Given the description of an element on the screen output the (x, y) to click on. 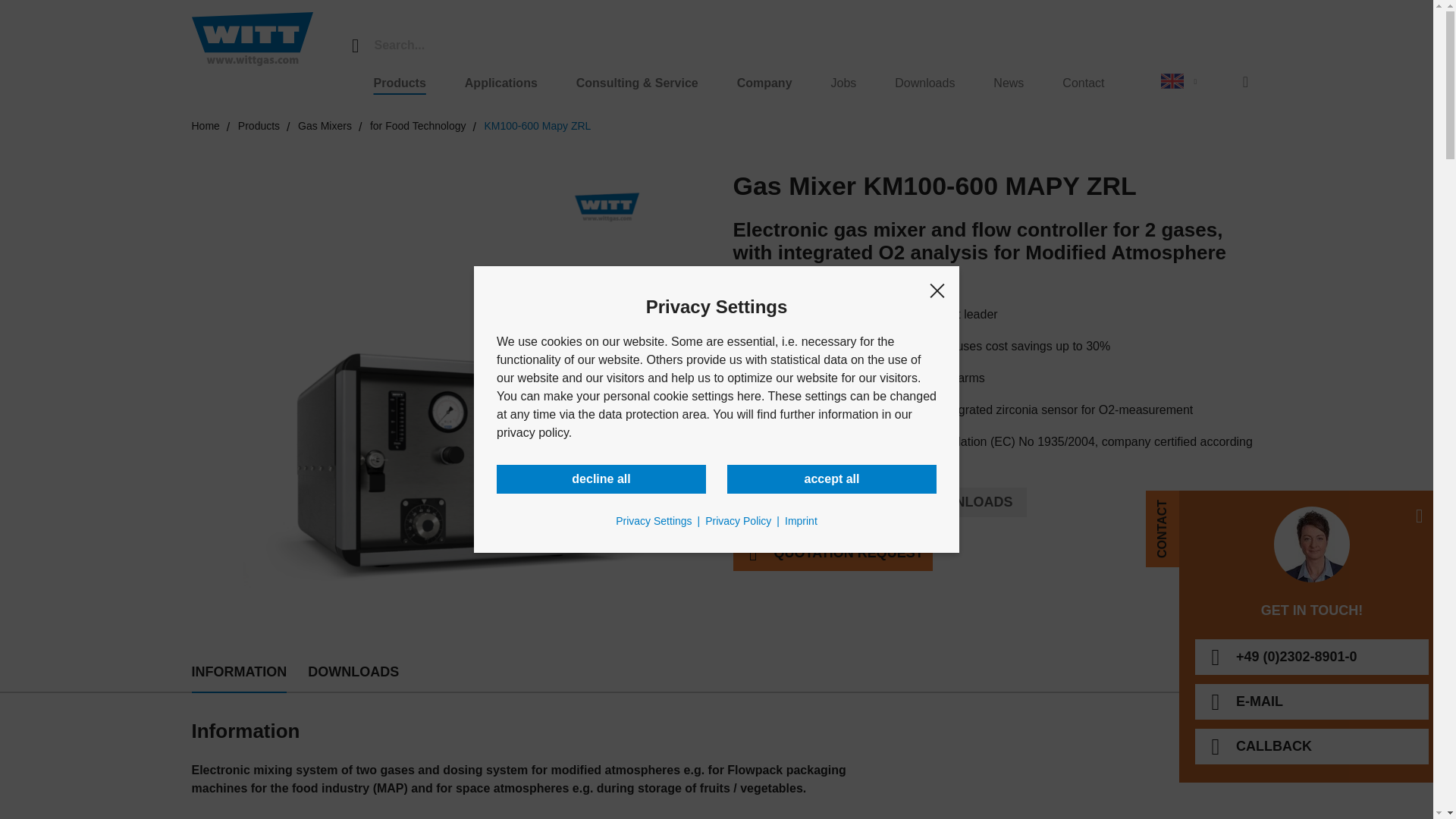
Search (354, 45)
Products (401, 89)
